Given the description of an element on the screen output the (x, y) to click on. 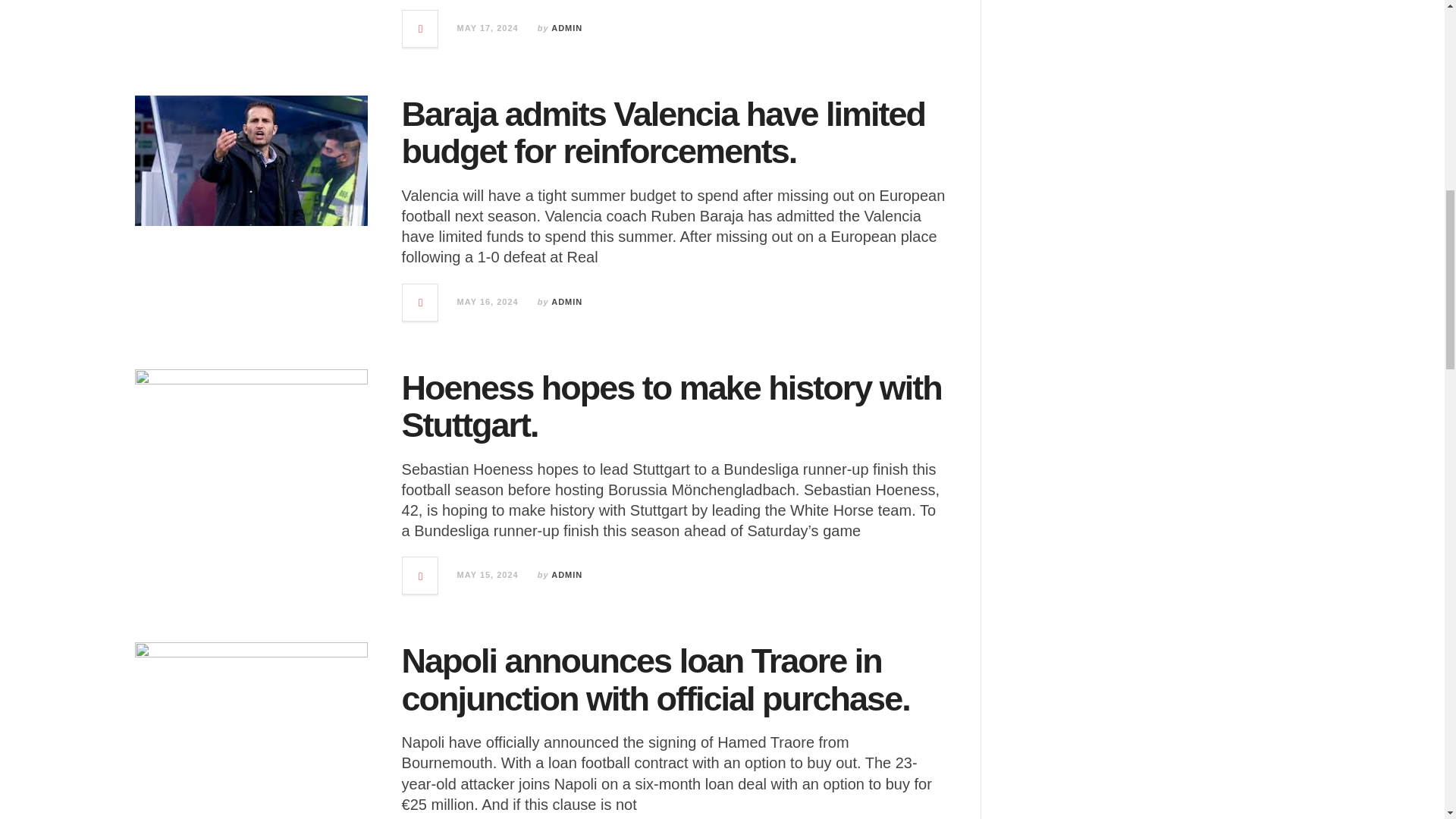
Read More... (421, 28)
Read More... (421, 302)
ADMIN (566, 27)
Posts by admin (566, 301)
Posts by admin (566, 27)
Read More... (421, 575)
ADMIN (566, 301)
Posts by admin (566, 574)
Hoeness hopes to make history with Stuttgart. (671, 406)
ADMIN (566, 574)
